Given the description of an element on the screen output the (x, y) to click on. 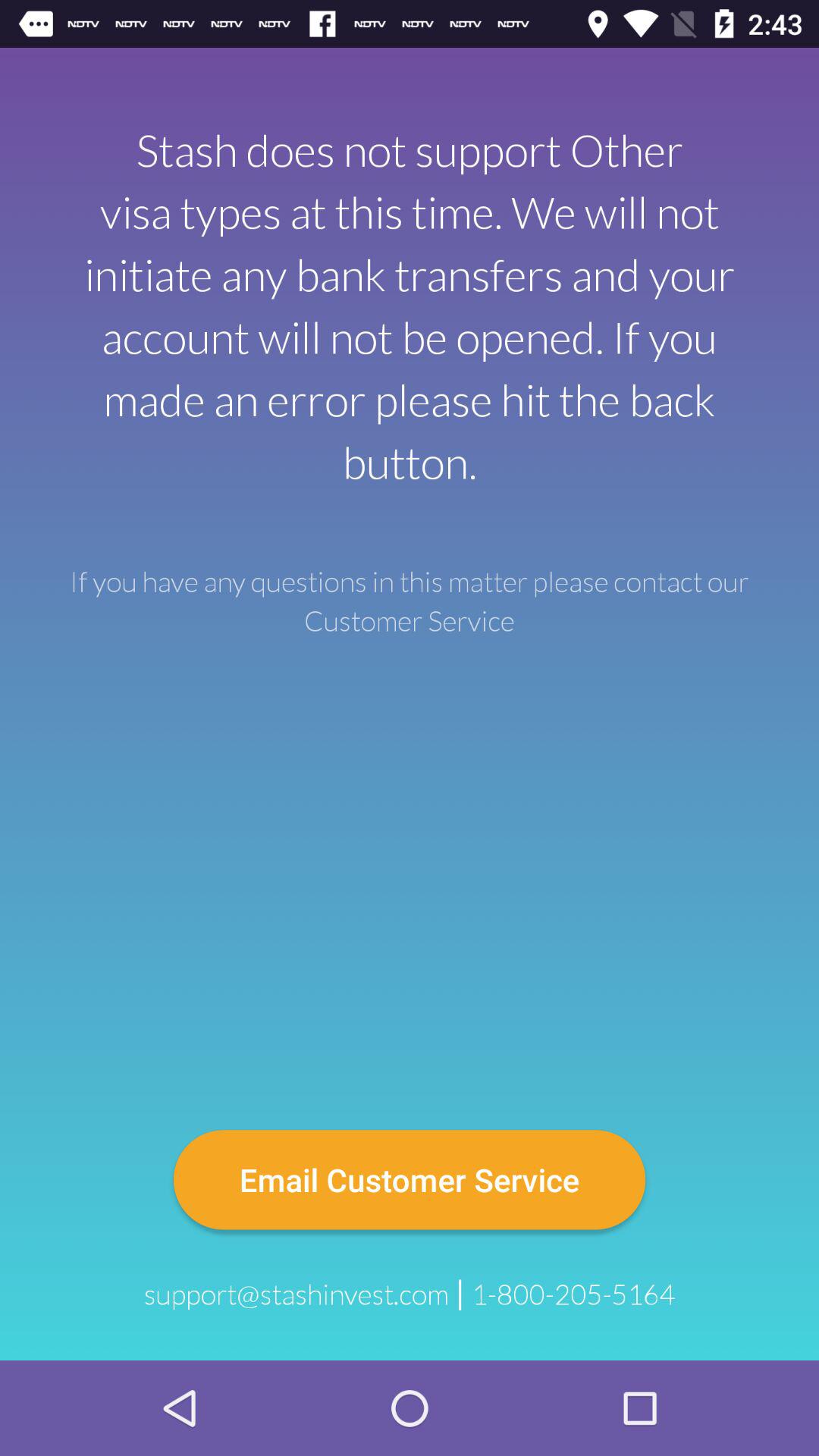
tap 1 800 205 (573, 1294)
